Given the description of an element on the screen output the (x, y) to click on. 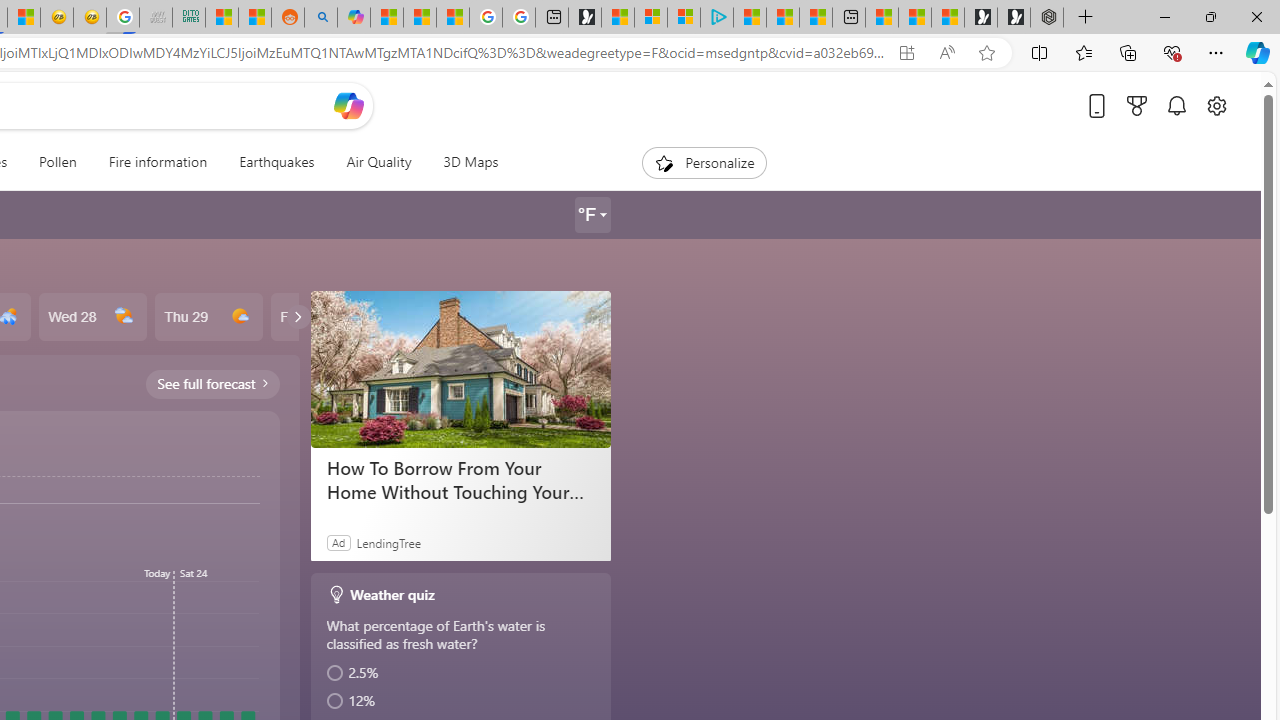
See full forecast (212, 383)
Air Quality (378, 162)
Pollen (57, 162)
